Given the description of an element on the screen output the (x, y) to click on. 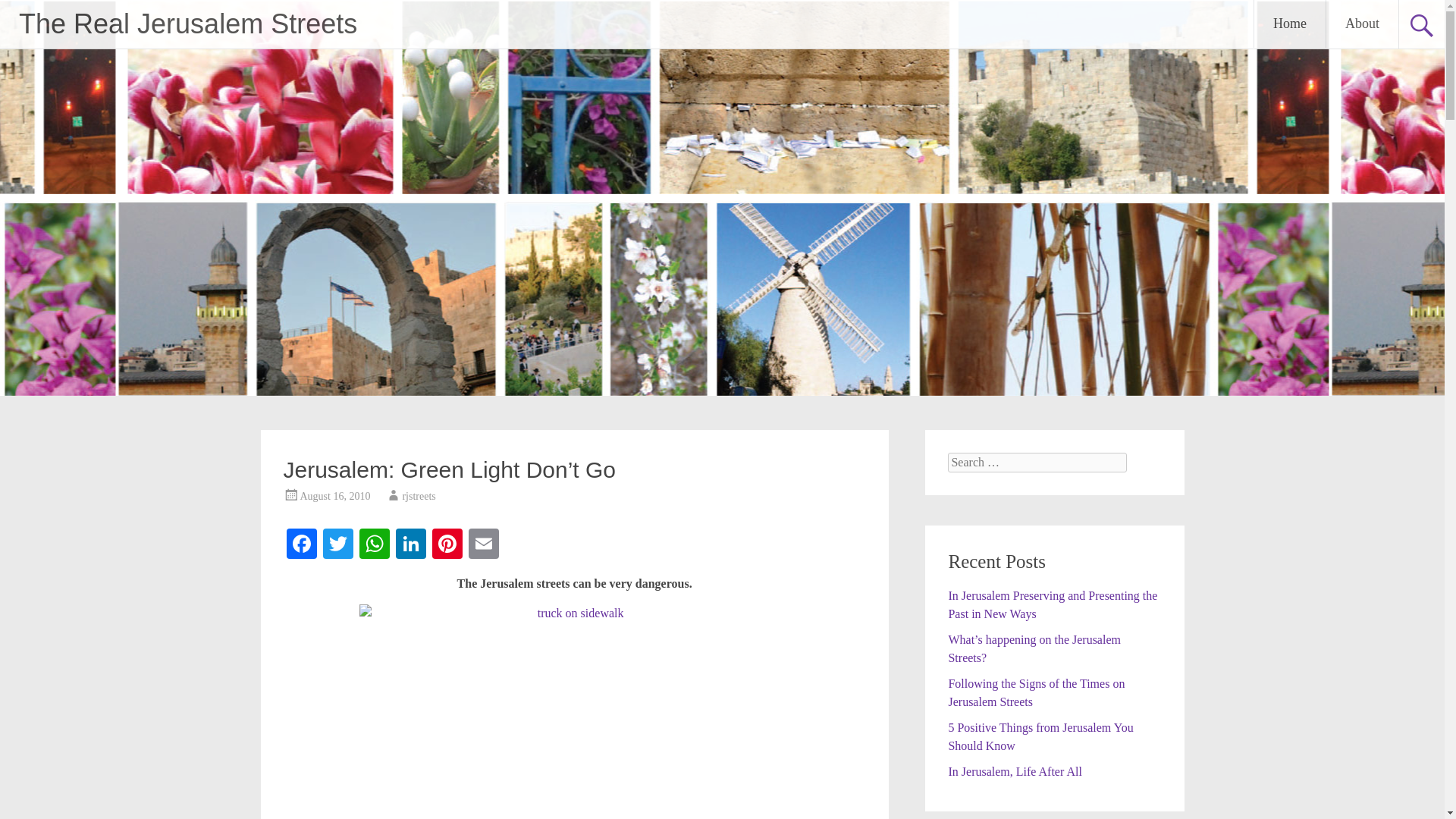
WhatsApp (374, 545)
The Real Jerusalem Streets (187, 23)
Twitter (338, 545)
rjstreets (418, 496)
Facebook (301, 545)
WhatsApp (374, 545)
Pinterest (447, 545)
Email (483, 545)
About (1361, 23)
Email (483, 545)
LinkedIn (411, 545)
August 16, 2010 (335, 496)
Pinterest (447, 545)
Facebook (301, 545)
LinkedIn (411, 545)
